Given the description of an element on the screen output the (x, y) to click on. 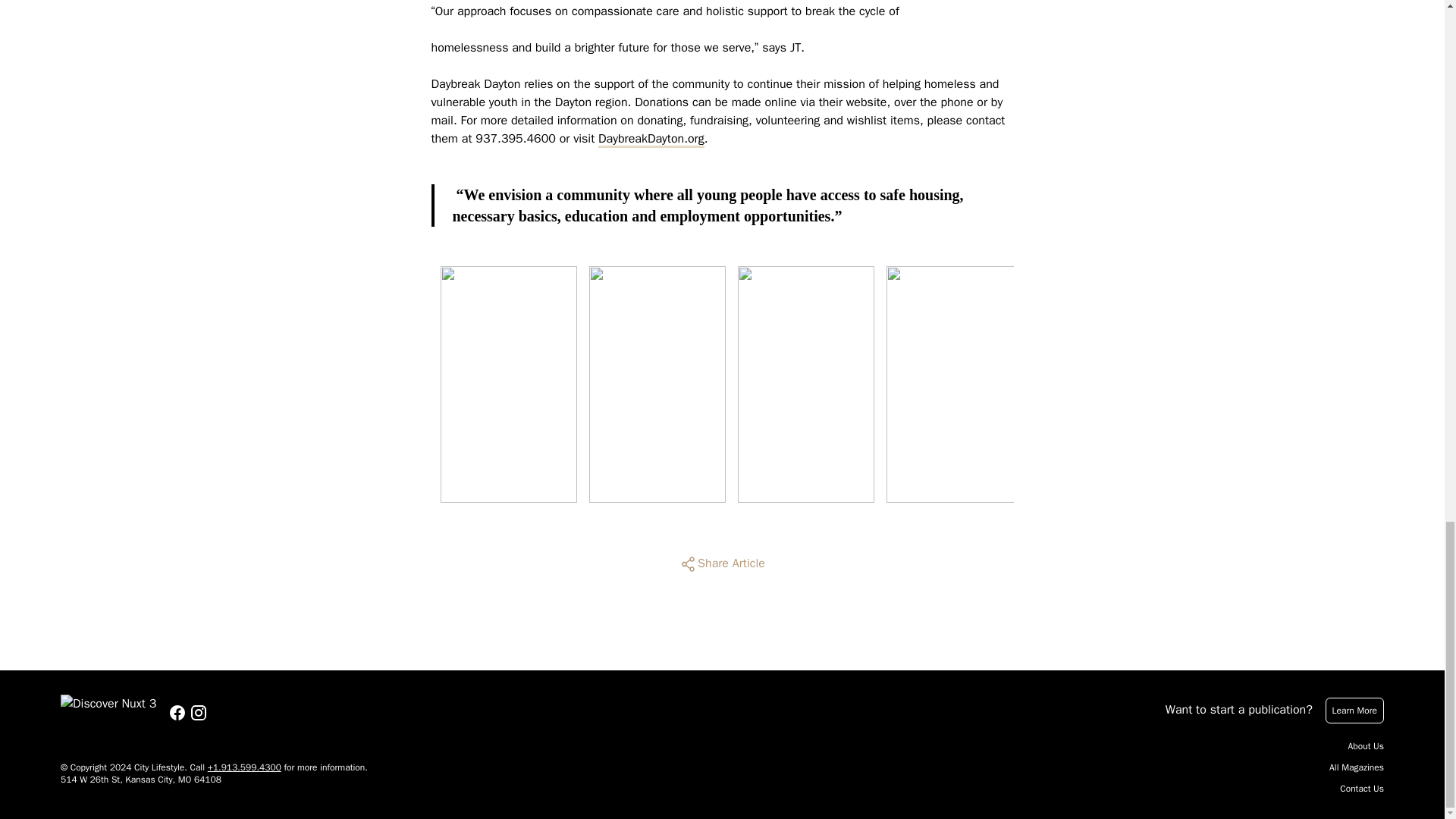
About Us (1366, 746)
Learn More (1354, 710)
Contact Us (1361, 788)
Share Article (722, 563)
All Magazines (1356, 767)
DaybreakDayton.org (651, 138)
